Given the description of an element on the screen output the (x, y) to click on. 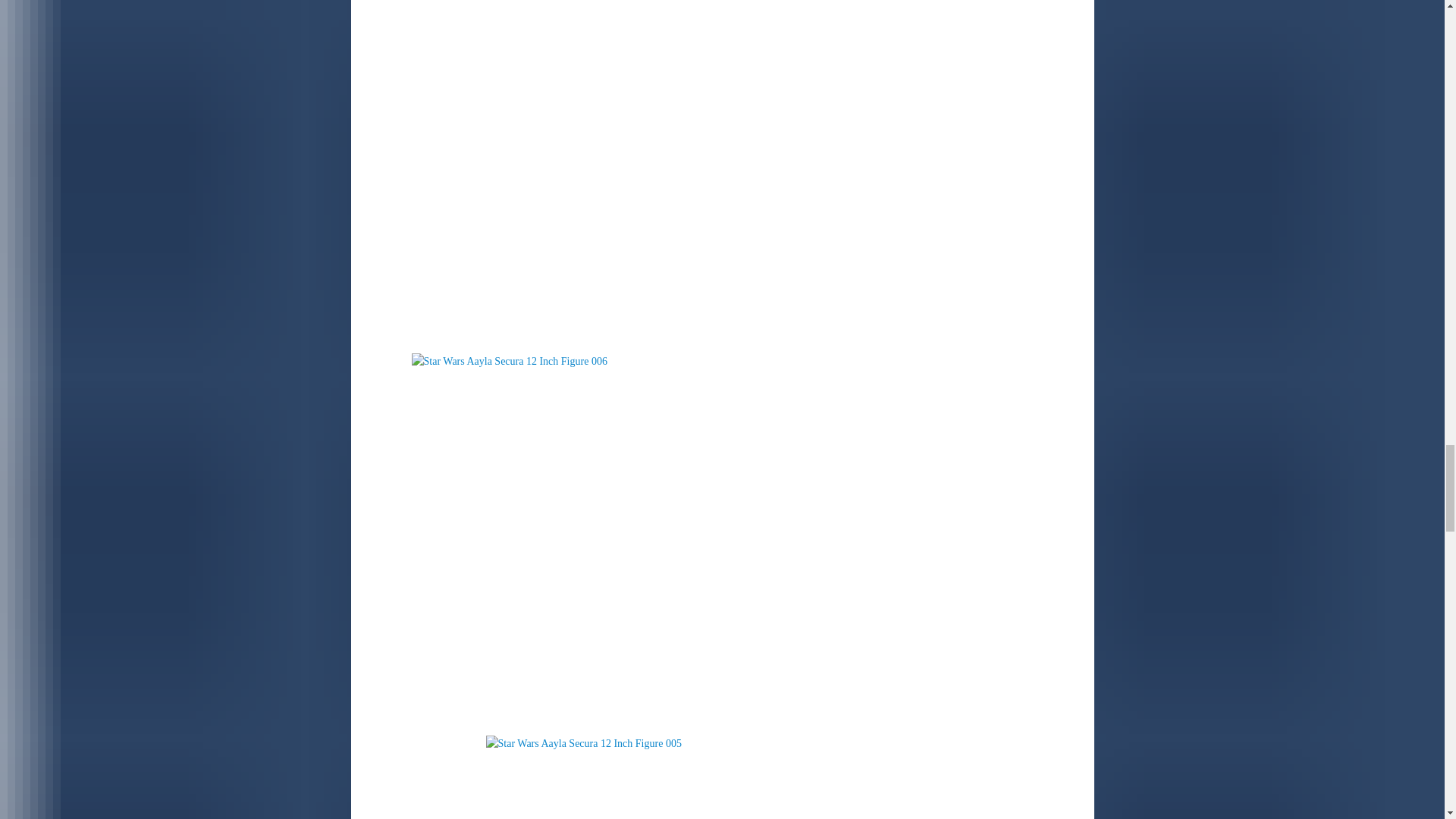
Star Wars Aayla Secura 12 Inch Figure 005 (600, 777)
